Given the description of an element on the screen output the (x, y) to click on. 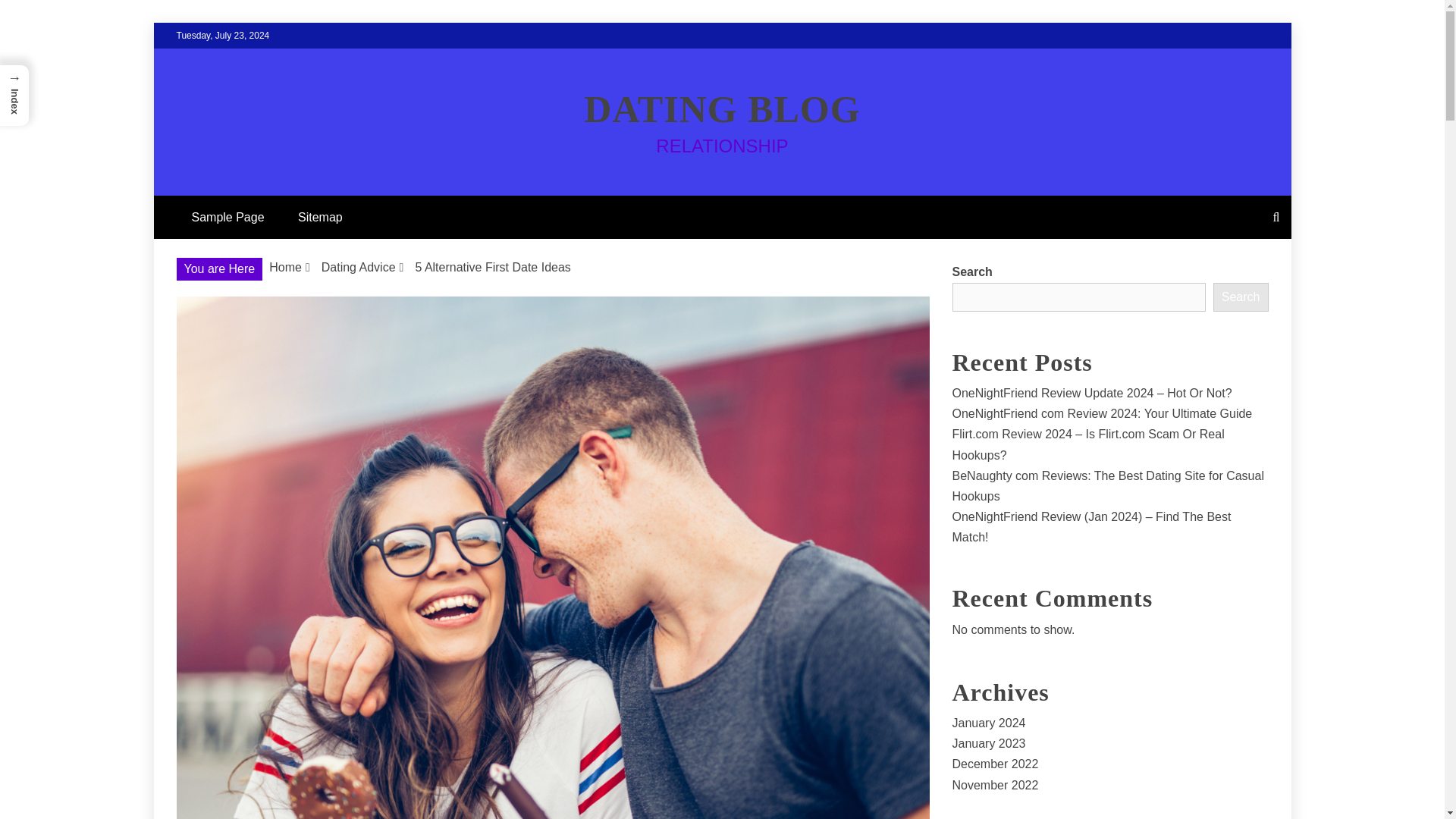
Dating Advice (358, 267)
Sample Page (227, 217)
DATING BLOG (721, 108)
Home (285, 267)
Sitemap (320, 217)
